Given the description of an element on the screen output the (x, y) to click on. 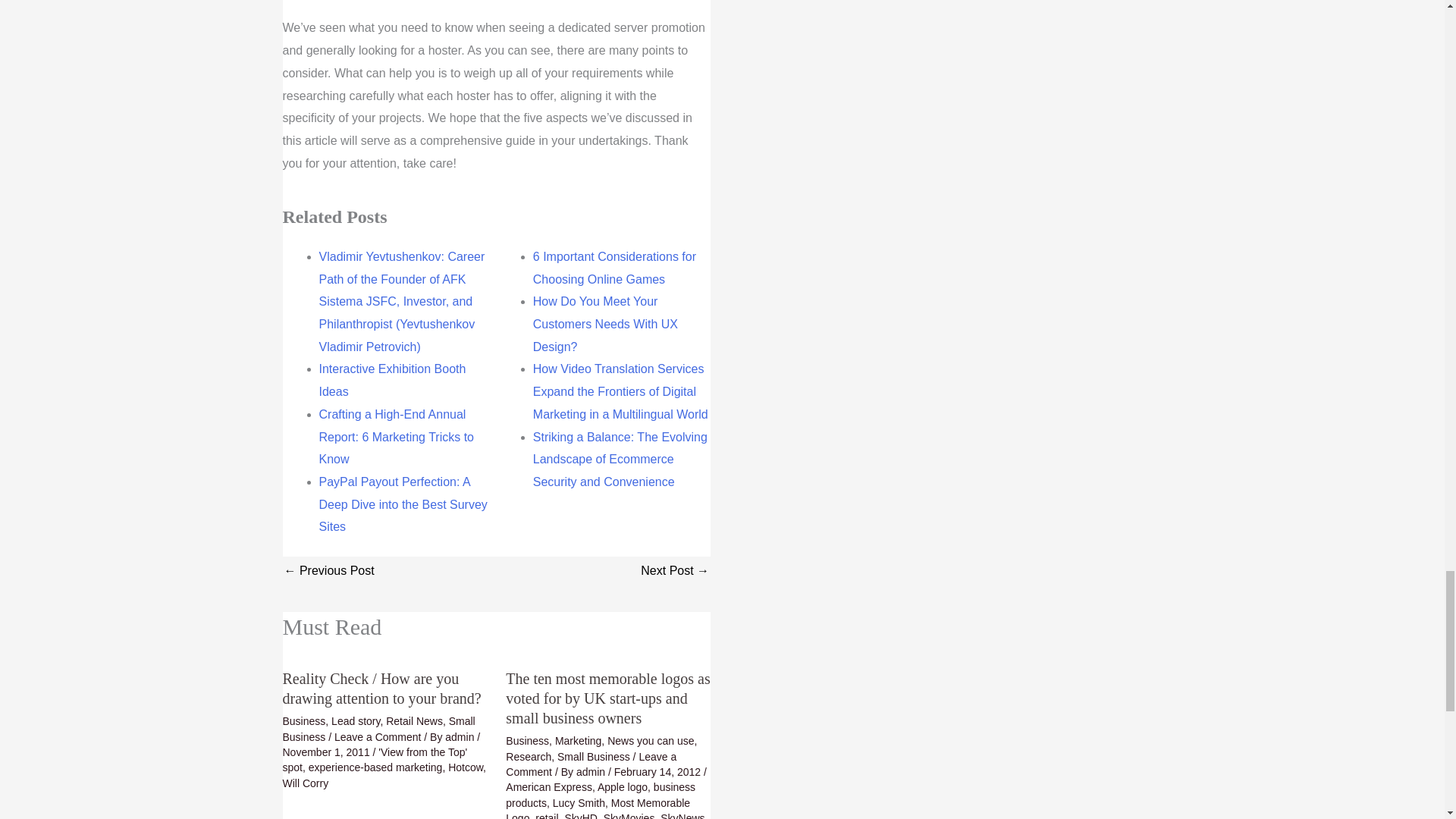
View all posts by admin (592, 771)
How to Develop an SEO Strategy for Your SMB (674, 571)
View all posts by admin (461, 736)
